Given the description of an element on the screen output the (x, y) to click on. 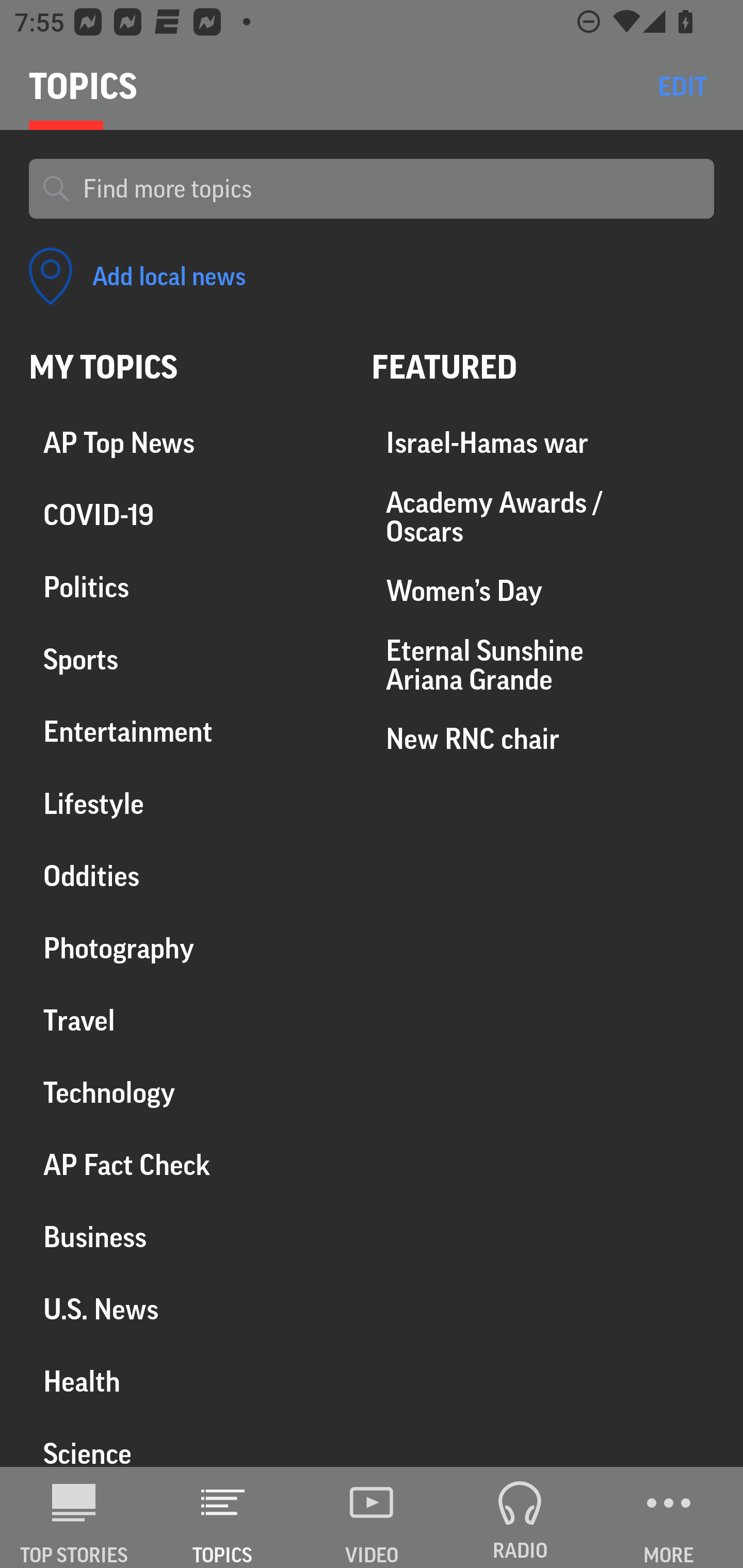
EDIT (682, 86)
Find more topics (391, 188)
Add local news (137, 276)
AP Top News (185, 443)
Israel-Hamas war (542, 443)
COVID-19 (185, 515)
Academy Awards / Oscars (542, 517)
Politics (185, 587)
Women’s Day (542, 591)
Sports (185, 660)
Eternal Sunshine Ariana Grande (542, 664)
Entertainment (185, 732)
New RNC chair (542, 738)
Lifestyle (185, 804)
Oddities (185, 876)
Photography (185, 948)
Travel (185, 1020)
Technology (185, 1092)
AP Fact Check (185, 1164)
Business (185, 1237)
U.S. News (185, 1309)
Health (185, 1381)
Science (185, 1442)
AP News TOP STORIES (74, 1517)
TOPICS (222, 1517)
VIDEO (371, 1517)
RADIO (519, 1517)
MORE (668, 1517)
